Given the description of an element on the screen output the (x, y) to click on. 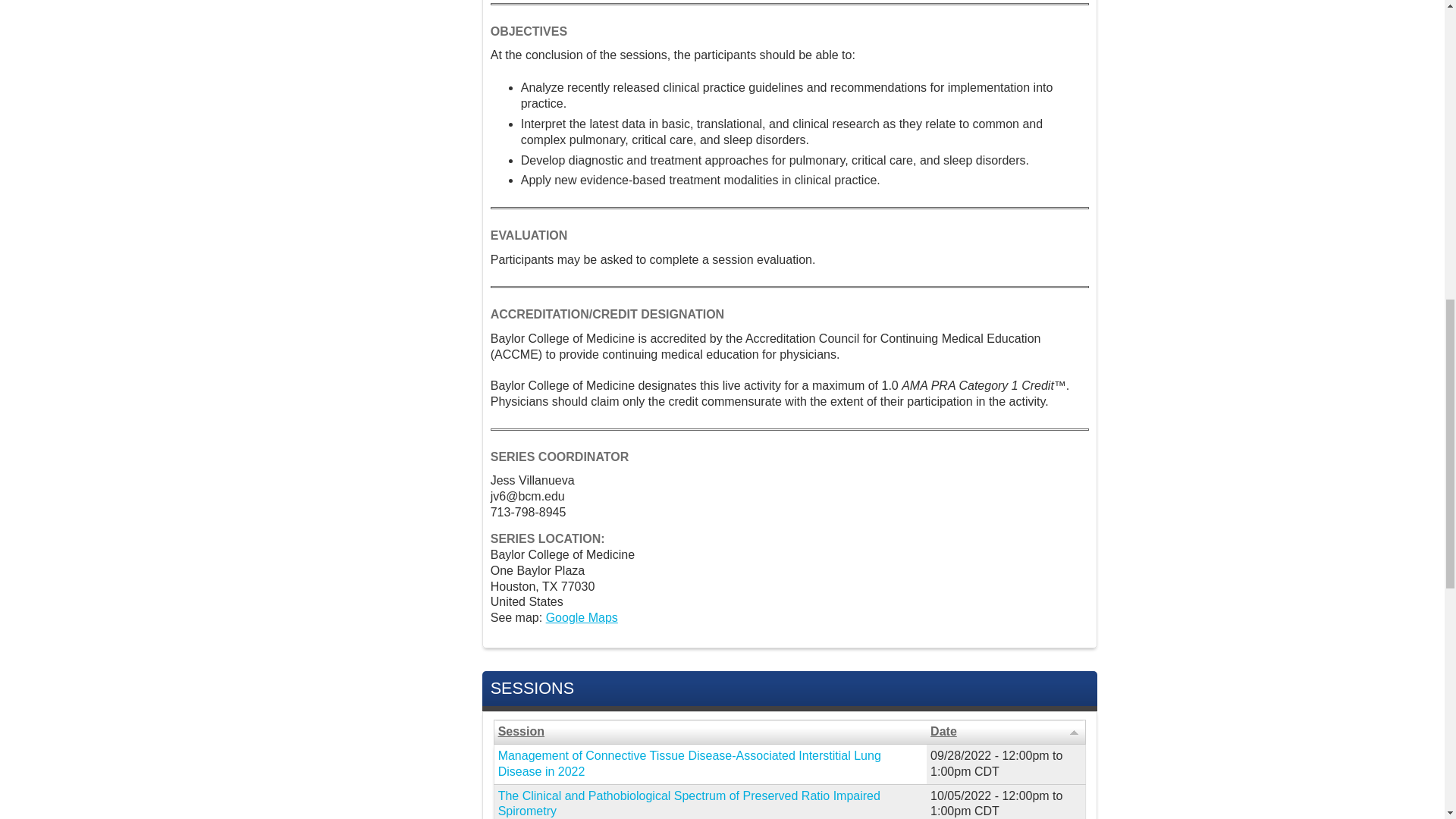
Session (710, 731)
sort descending (1073, 731)
Date (1005, 731)
sort by Session (710, 731)
sort by Date (1005, 731)
Google Maps (581, 617)
